Given the description of an element on the screen output the (x, y) to click on. 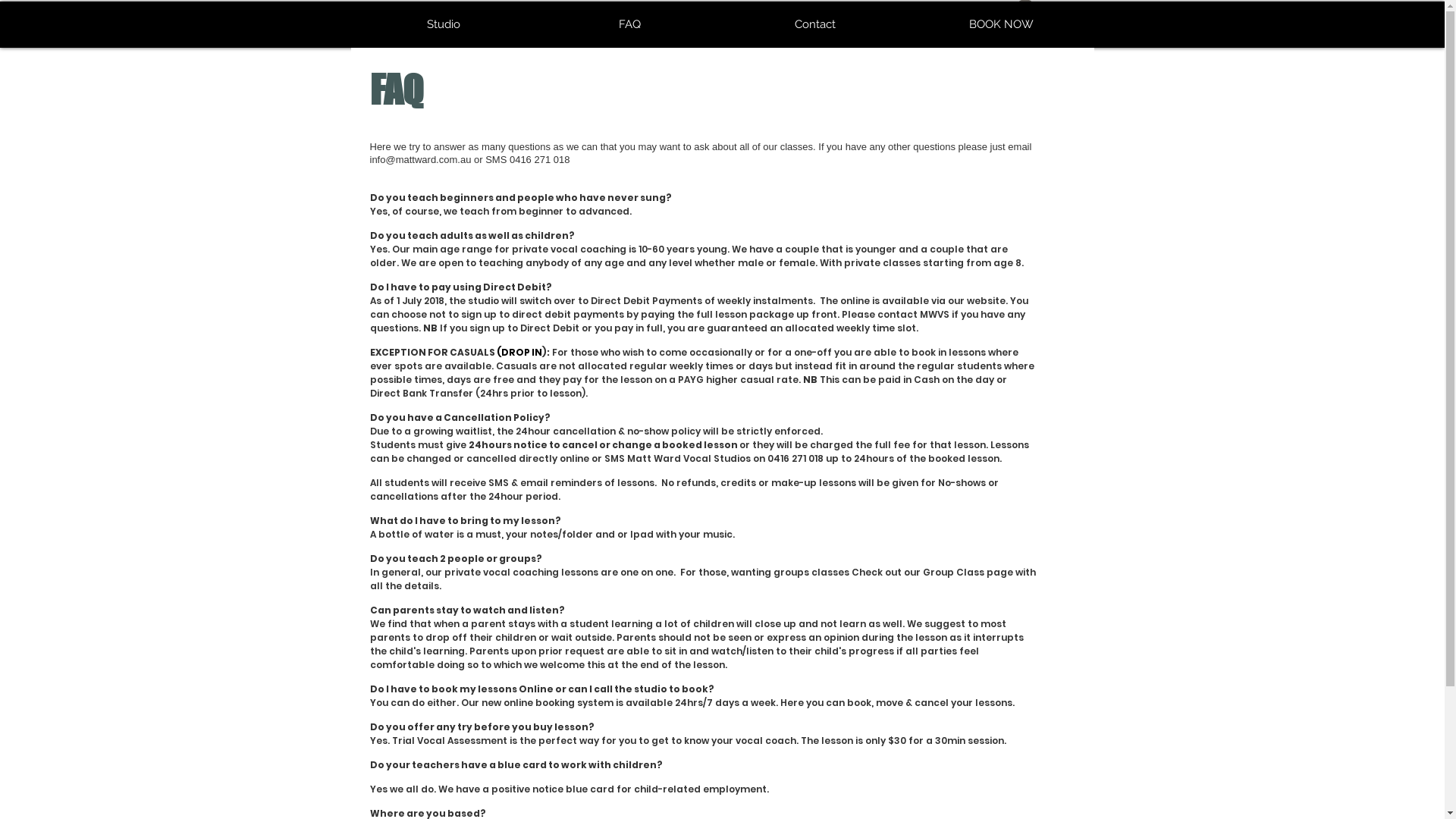
info@mattward.com.au Element type: text (420, 159)
Studio Element type: text (443, 24)
FAQ Element type: text (629, 24)
BOOK NOW Element type: text (1001, 24)
Contact Element type: text (814, 24)
